Given the description of an element on the screen output the (x, y) to click on. 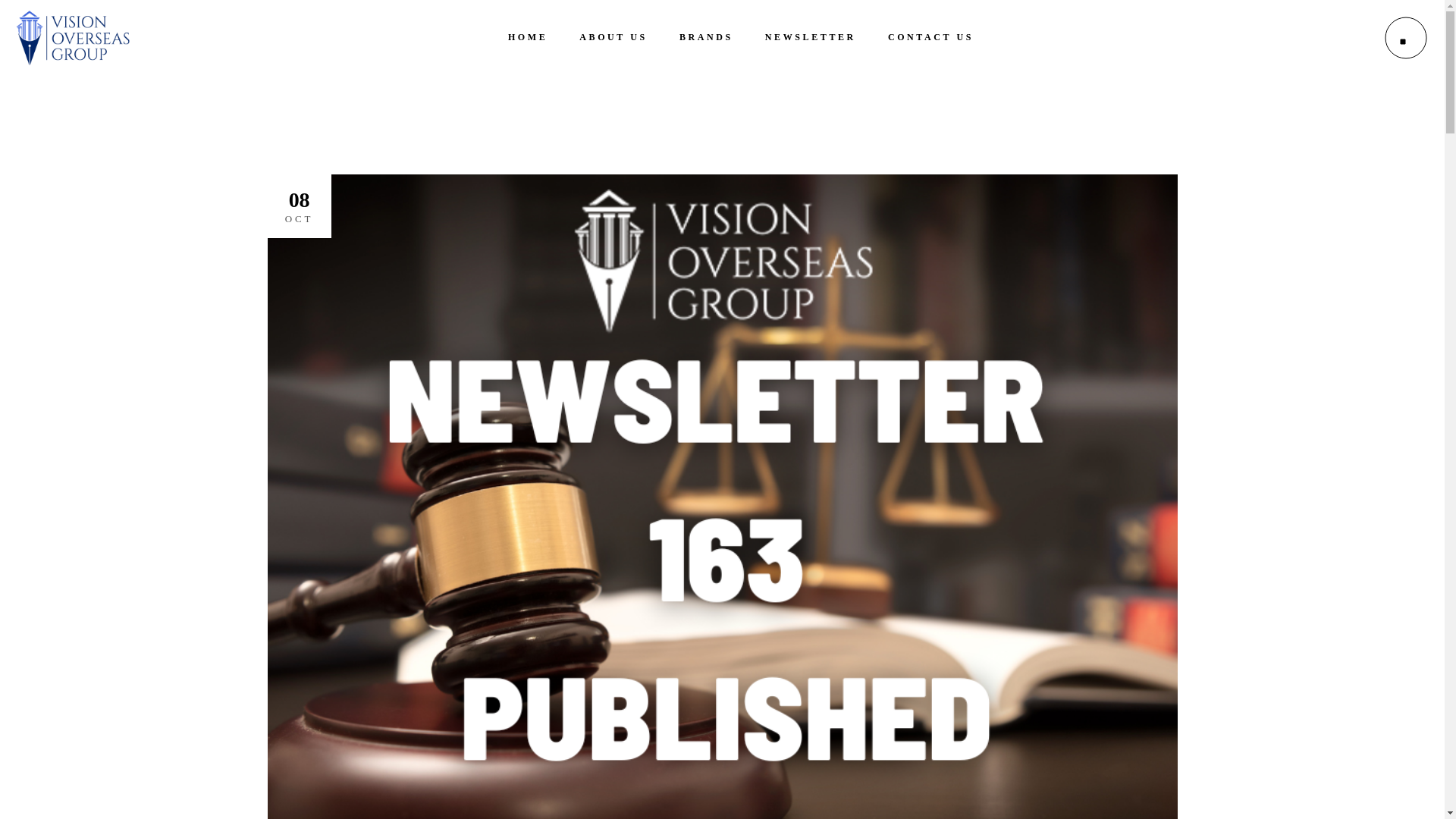
ABOUT US (613, 37)
NEWSLETTER (810, 37)
HOME (527, 37)
CONTACT US (931, 37)
BRANDS (706, 37)
